Given the description of an element on the screen output the (x, y) to click on. 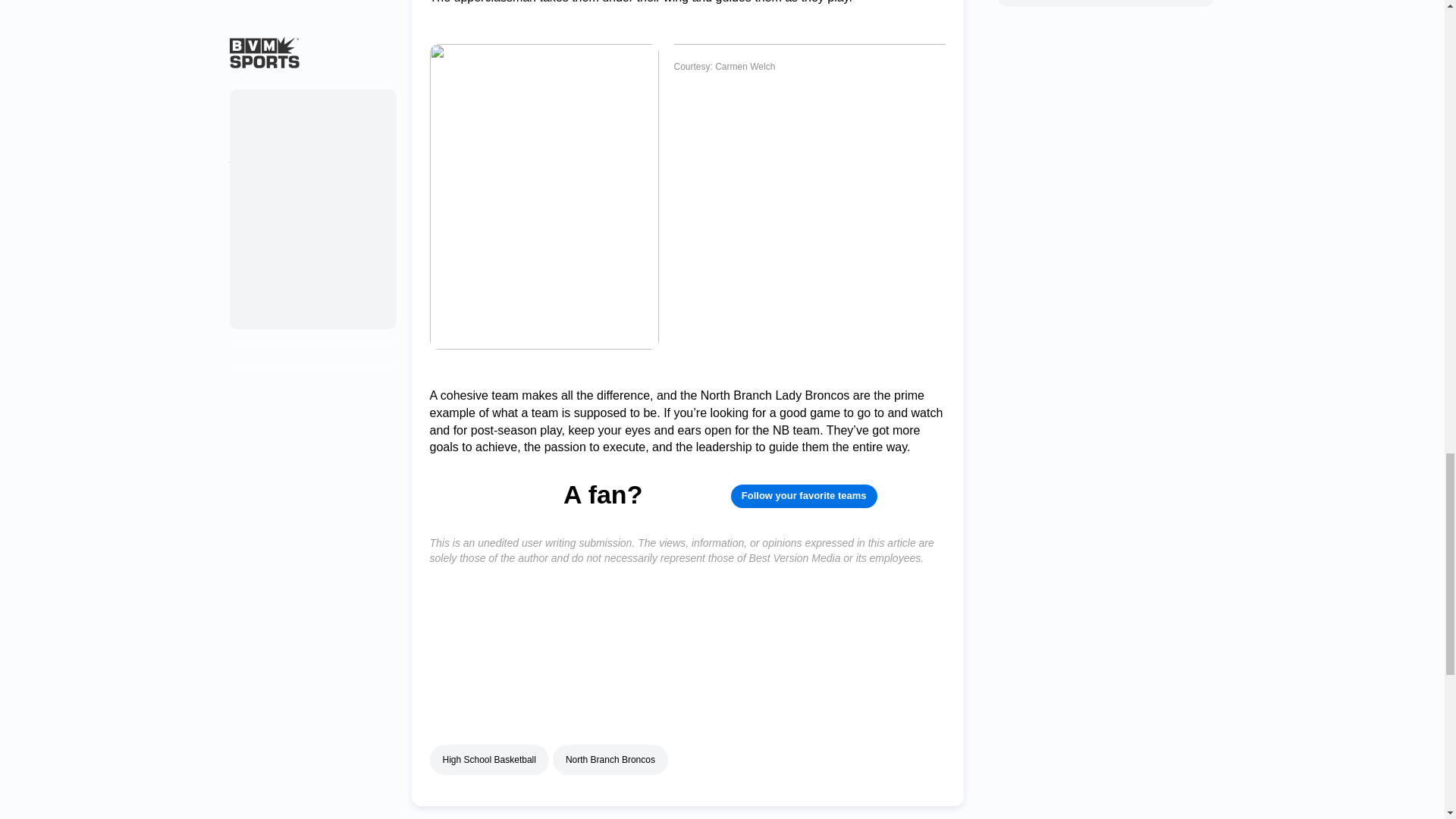
High School Basketball (488, 759)
Follow your favorite teams (803, 495)
North Branch Broncos (610, 759)
